Given the description of an element on the screen output the (x, y) to click on. 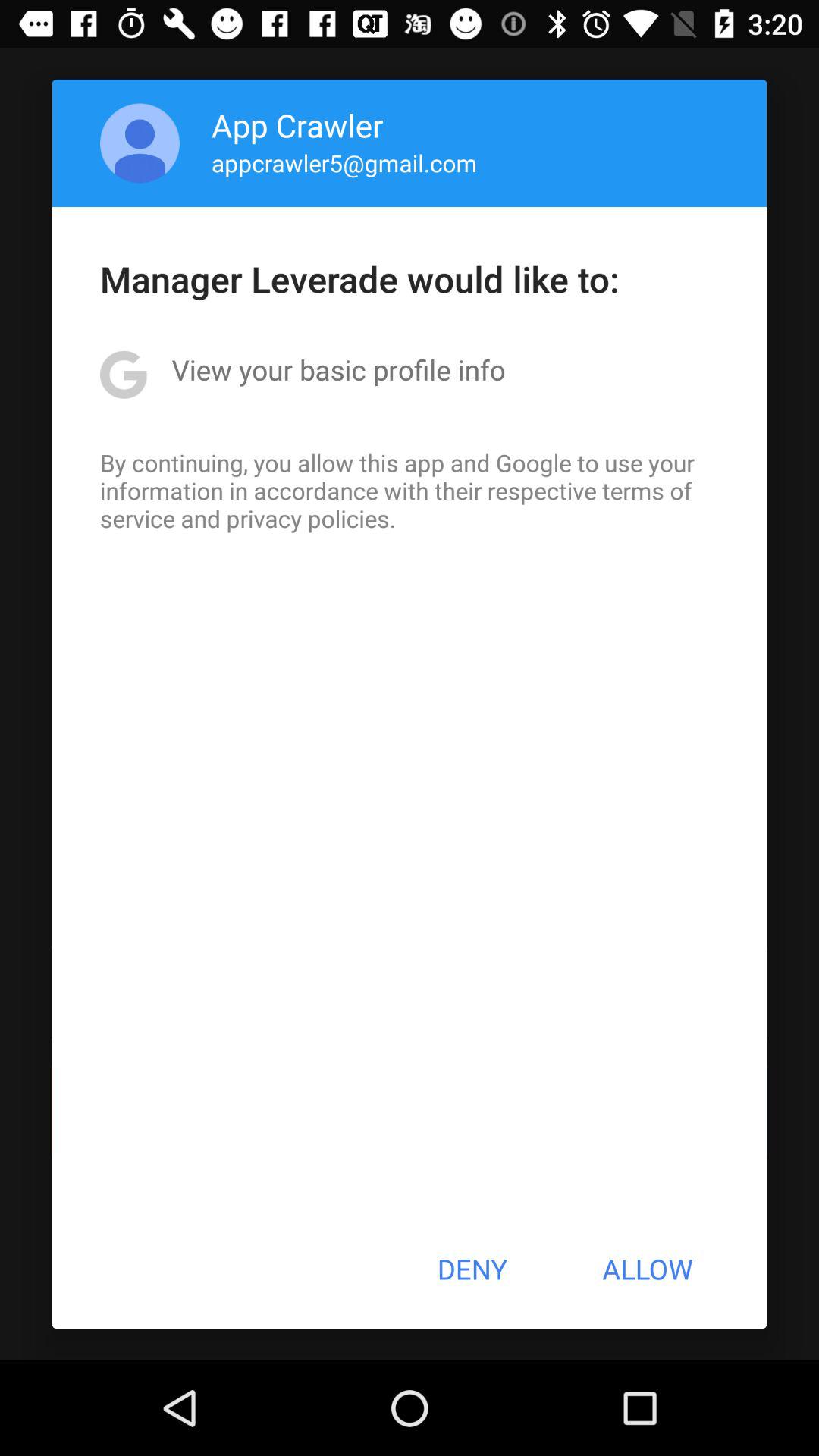
turn on deny icon (471, 1268)
